Given the description of an element on the screen output the (x, y) to click on. 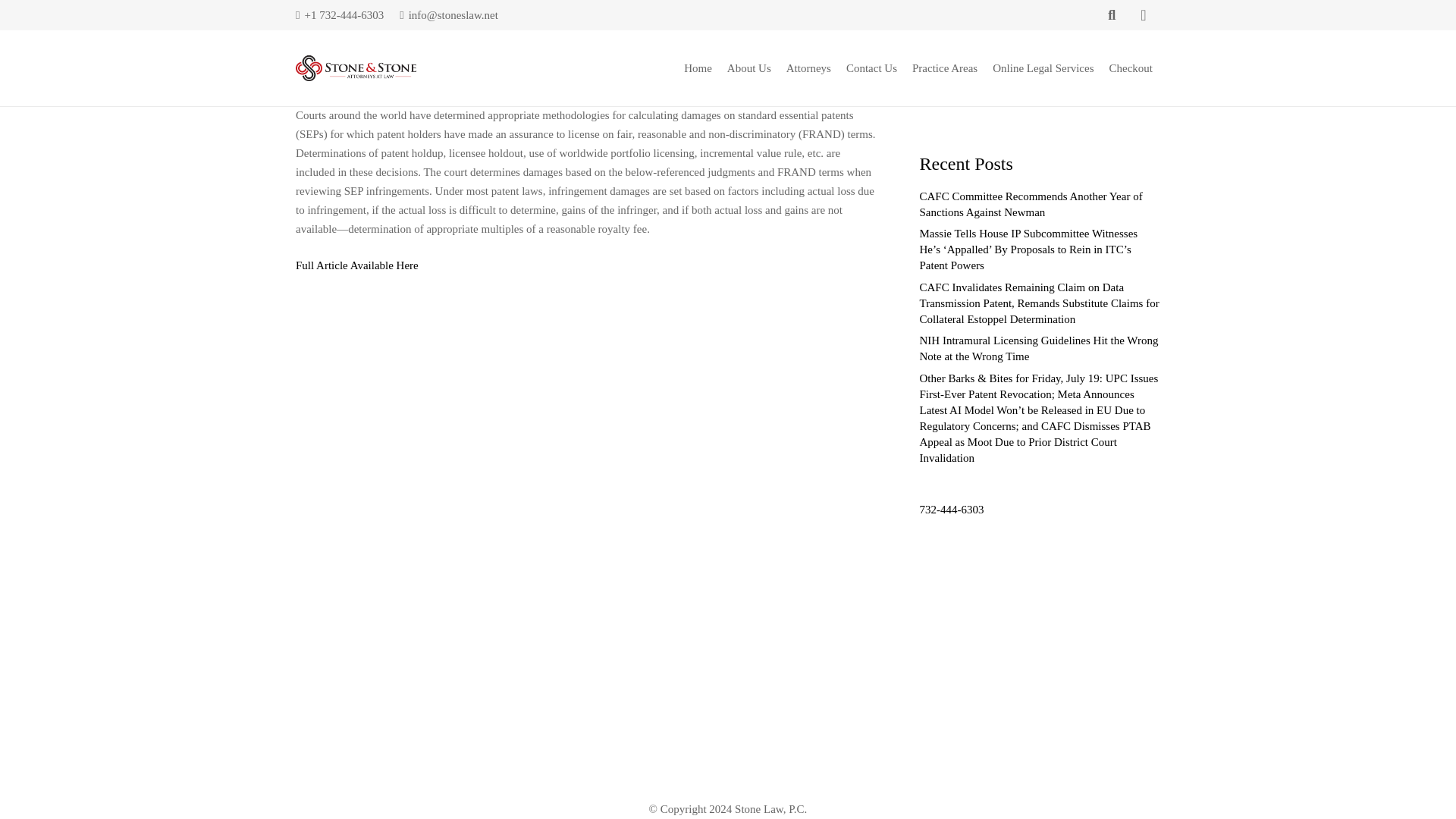
Home (698, 67)
Contact Us (871, 67)
About Us (748, 67)
Practice Areas (944, 67)
Attorneys (808, 67)
